Given the description of an element on the screen output the (x, y) to click on. 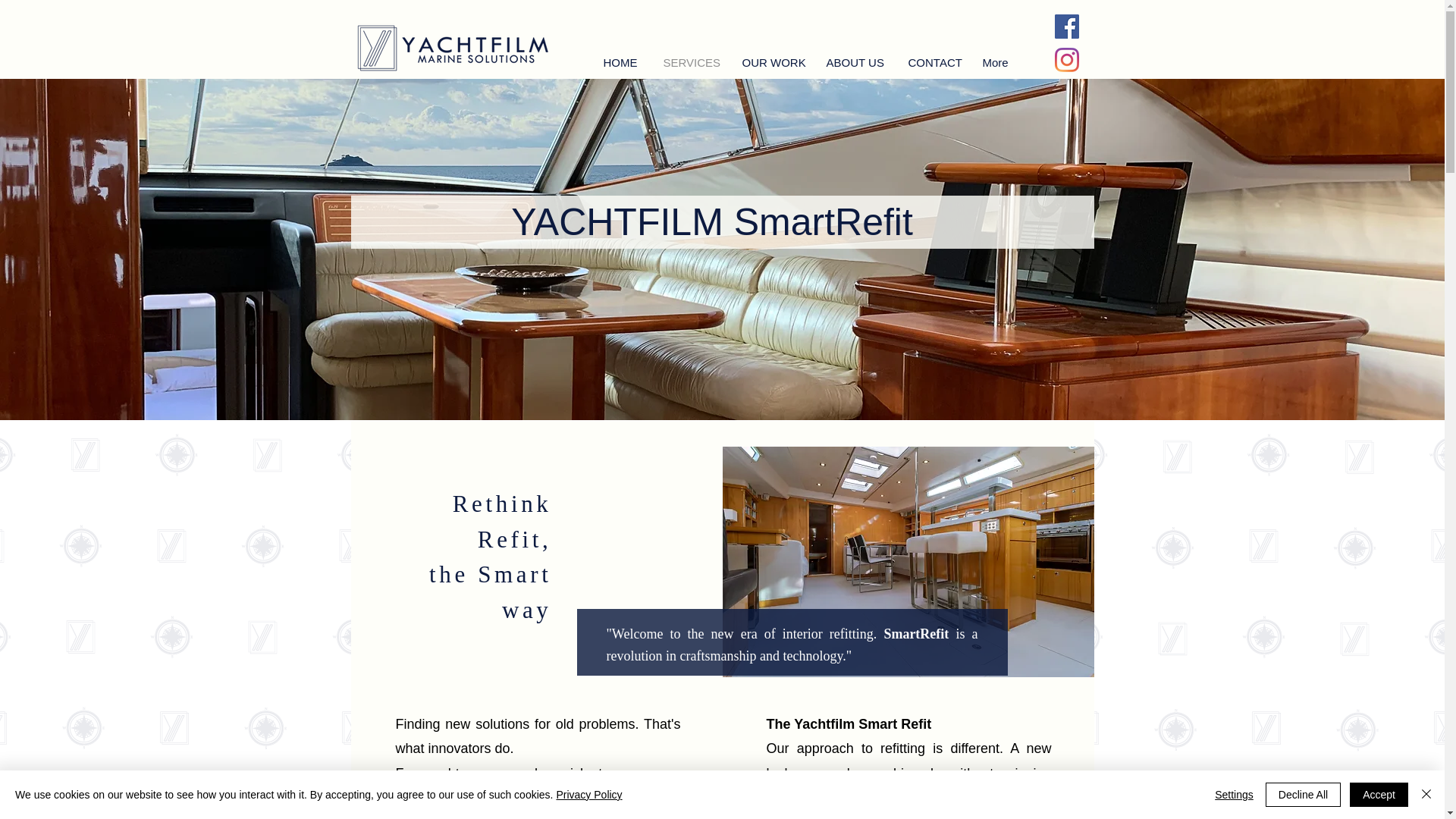
HOME (622, 62)
OUR WORK (774, 62)
Decline All (1302, 794)
Privacy Policy (588, 794)
ABOUT US (856, 62)
SERVICES (692, 62)
CONTACT (935, 62)
Accept (1378, 794)
